Given the description of an element on the screen output the (x, y) to click on. 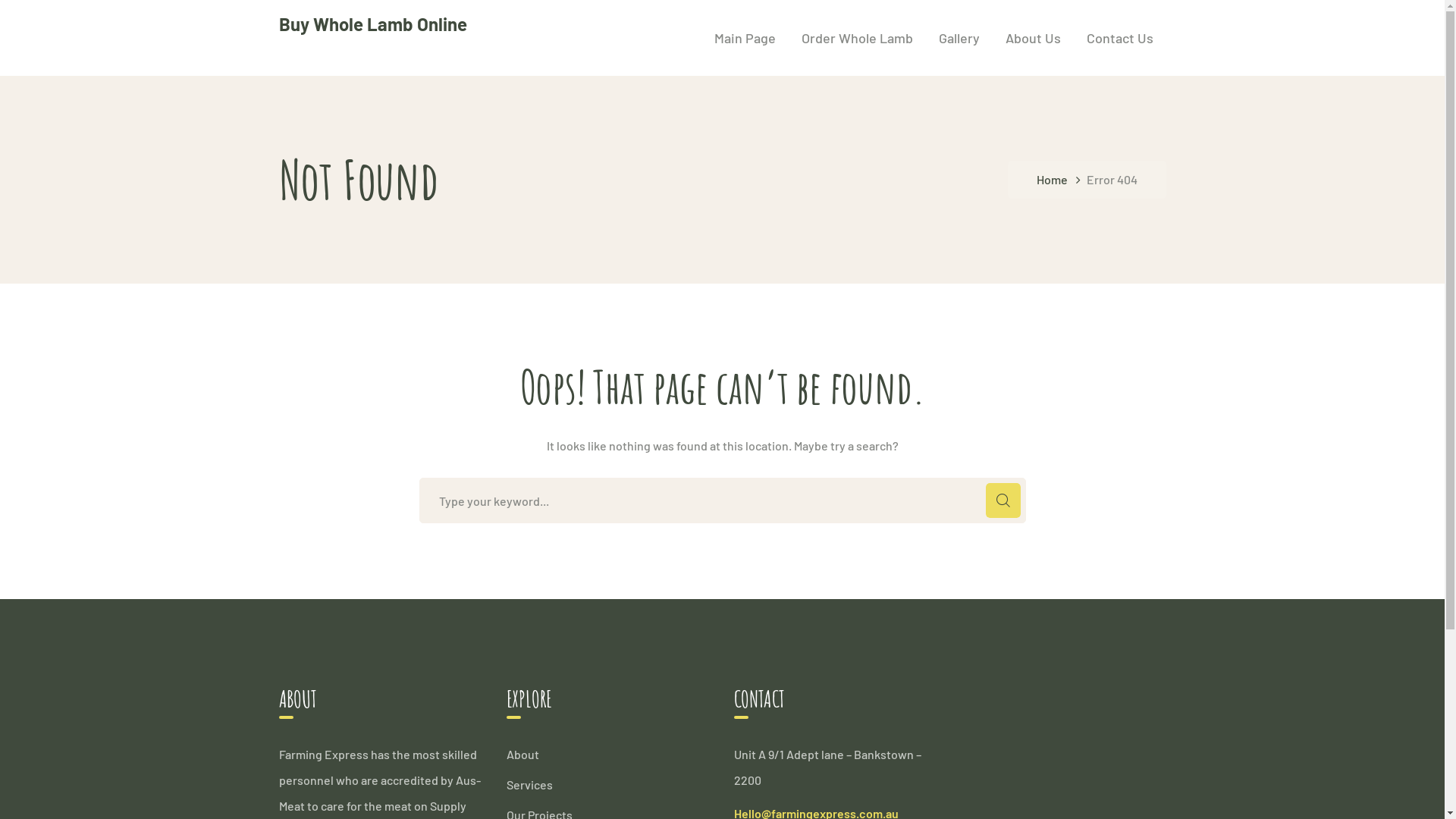
Home Element type: text (1060, 179)
Order Whole Lamb Element type: text (856, 37)
About Us Element type: text (1032, 37)
Gallery Element type: text (958, 37)
Buy Whole Lamb Online Element type: text (373, 23)
About Element type: text (522, 754)
Contact Us Element type: text (1118, 37)
Main Page Element type: text (744, 37)
Services Element type: text (529, 784)
SEARCH Element type: text (1002, 500)
Search for: Element type: hover (721, 500)
